Given the description of an element on the screen output the (x, y) to click on. 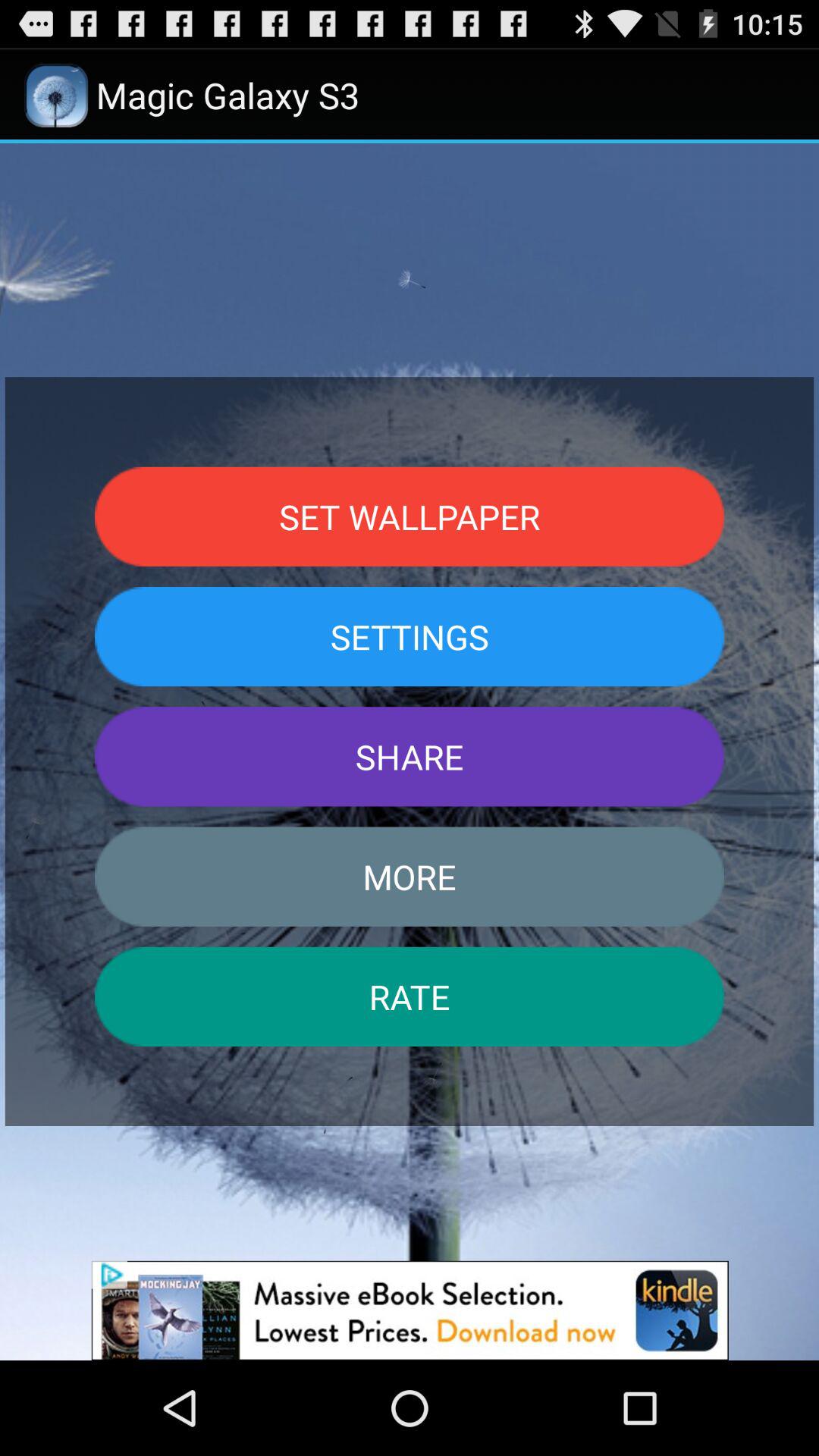
click more item (409, 876)
